Given the description of an element on the screen output the (x, y) to click on. 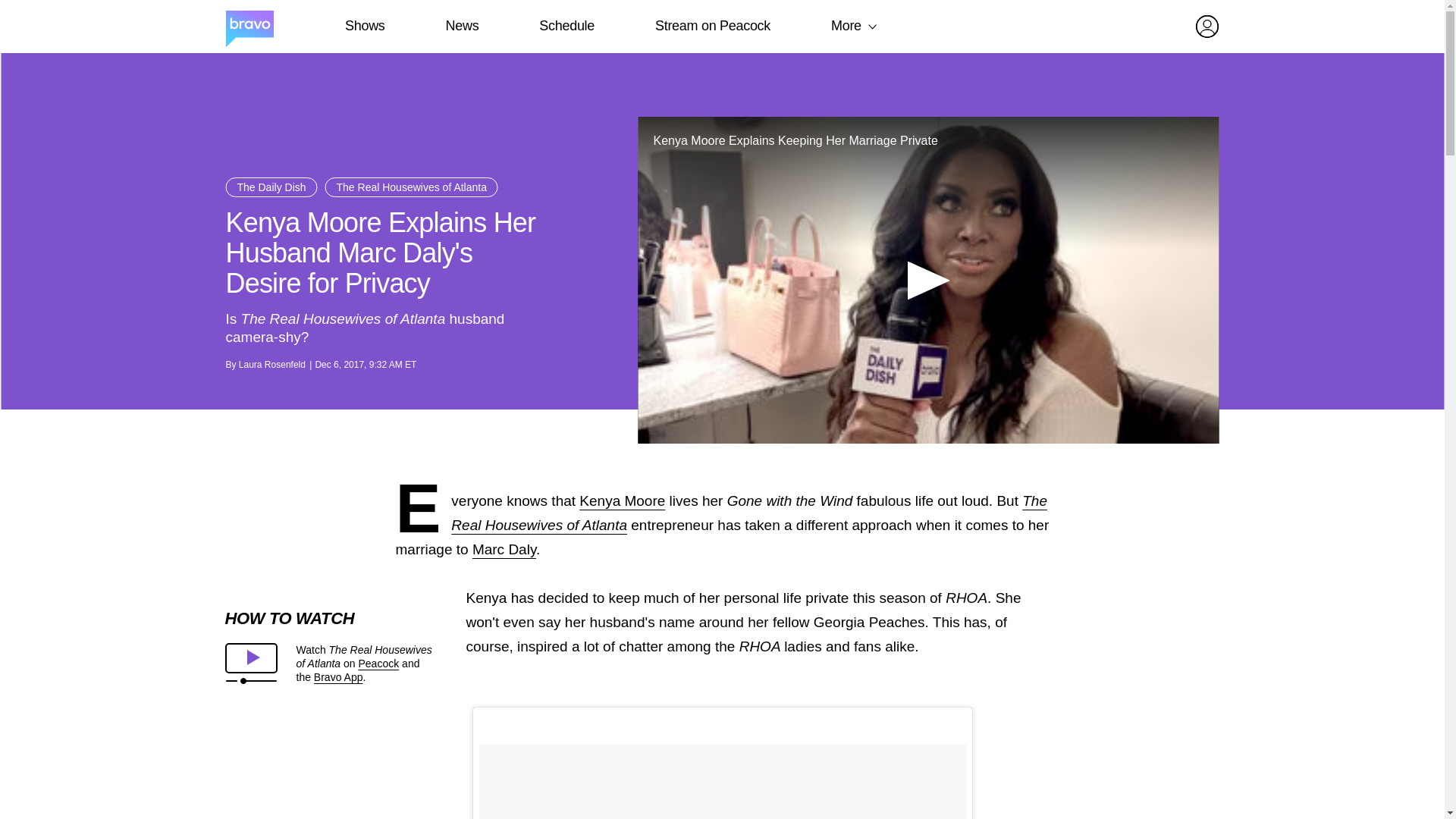
Kenya Moore (622, 500)
Bravo App (338, 676)
Laura Rosenfeld (271, 364)
More (846, 26)
Shows (363, 26)
Peacock (378, 663)
The Real Housewives of Atlanta (410, 187)
Home (249, 26)
Schedule (566, 26)
